Given the description of an element on the screen output the (x, y) to click on. 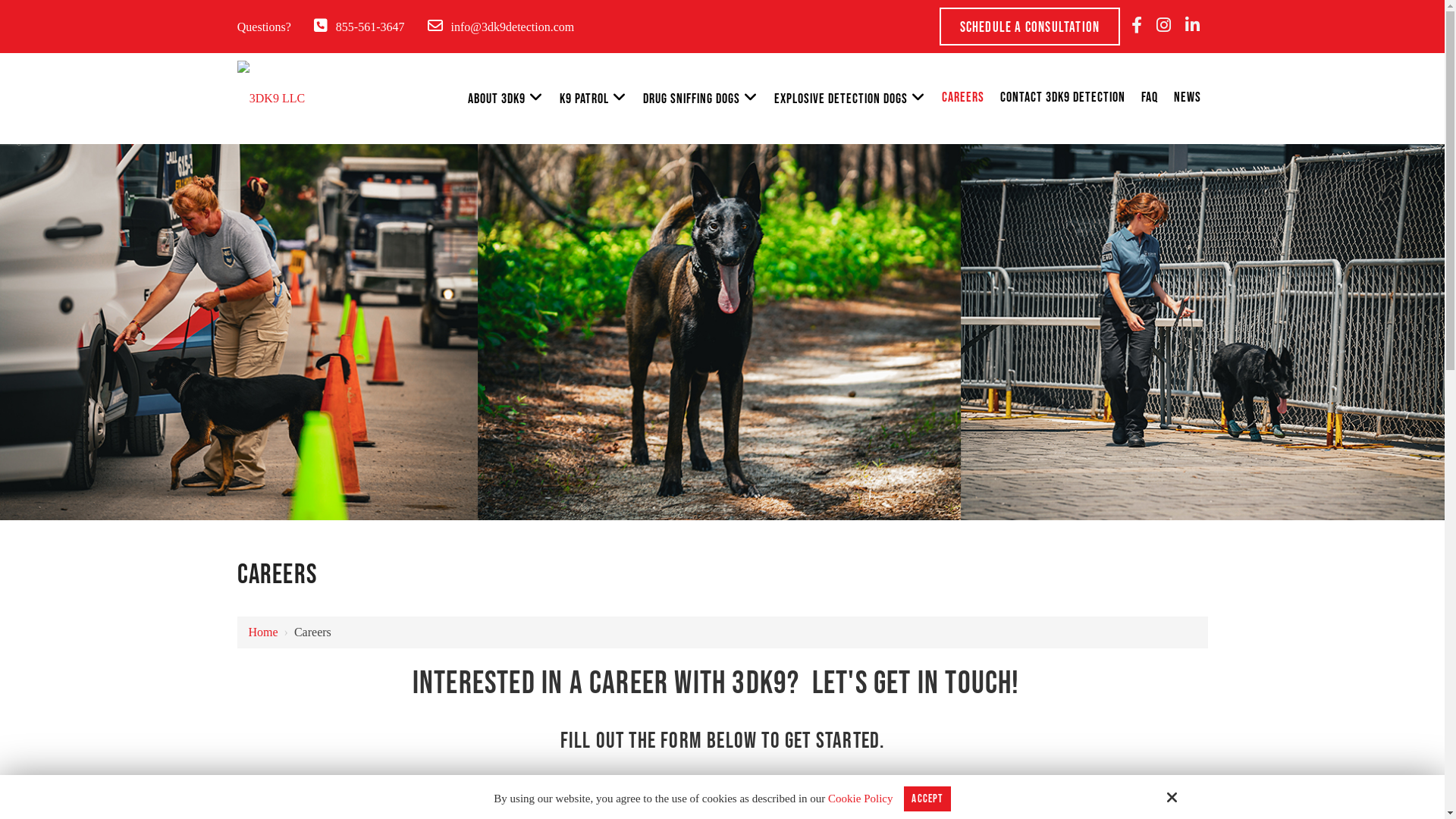
855-561-3647 Element type: text (369, 26)
EXPLOSIVE DETECTION DOGS Element type: text (849, 97)
SCHEDULE A CONSULTATION Element type: text (1029, 26)
K9 PATROL Element type: text (593, 97)
Cookie Policy Element type: text (860, 798)
info@3dk9detection.com Element type: text (512, 26)
NEWS Element type: text (1187, 97)
FAQ Element type: text (1149, 97)
CAREERS Element type: text (962, 97)
ABOUT 3DK9 Element type: text (505, 97)
ACCEPT Element type: text (926, 798)
CONTACT 3DK9 DETECTION Element type: text (1062, 97)
DRUG SNIFFING DOGS Element type: text (700, 97)
Home Element type: text (263, 631)
